Given the description of an element on the screen output the (x, y) to click on. 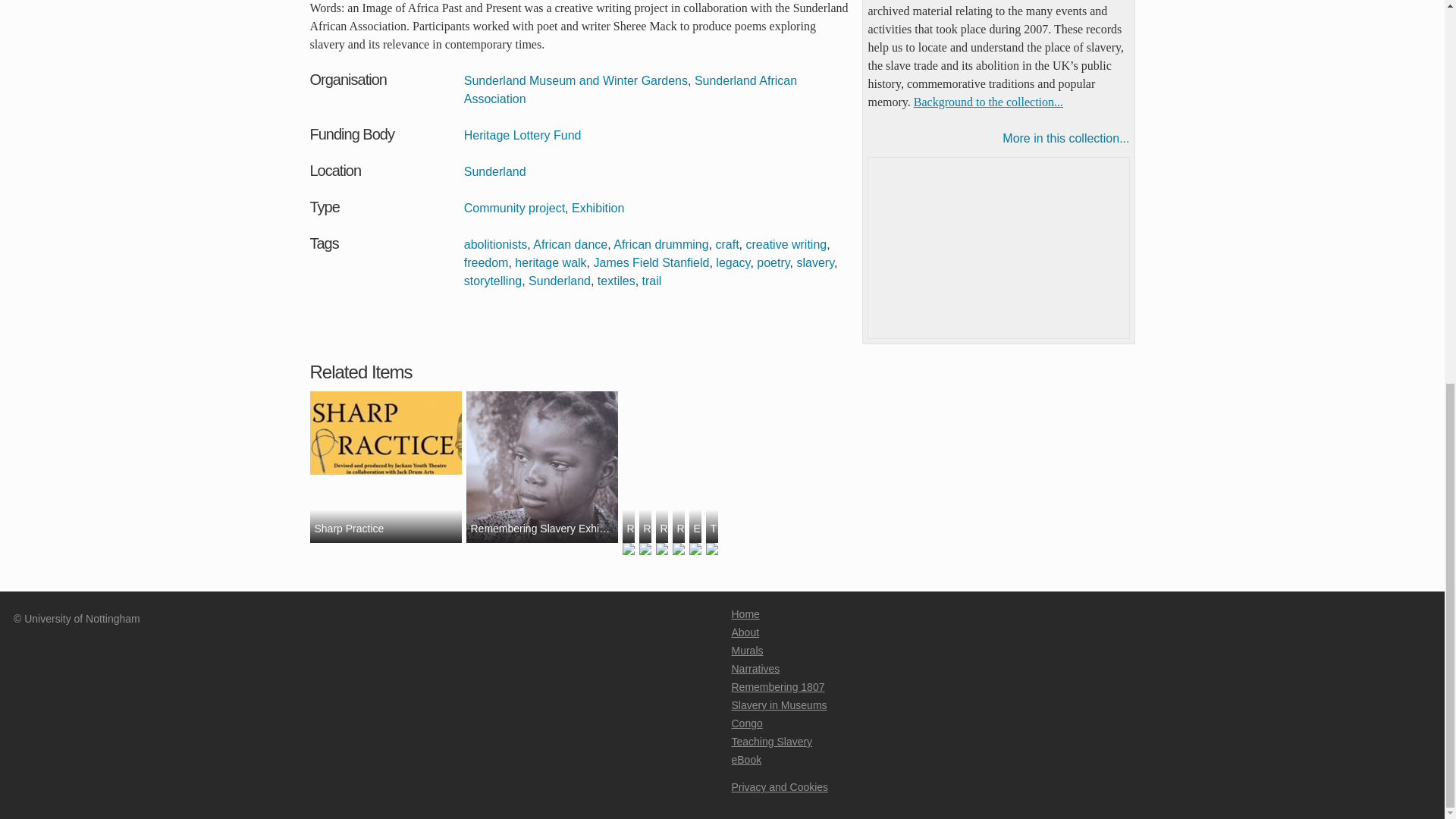
Sunderland (559, 280)
African dance (569, 244)
legacy (732, 262)
abolitionists (495, 244)
slavery (815, 262)
Community project (514, 207)
textiles (615, 280)
Exhibition (598, 207)
Sunderland Museum and Winter Gardens (575, 80)
More in this collection... (998, 138)
craft (726, 244)
freedom (486, 262)
Background to the collection... (988, 101)
heritage walk (550, 262)
storytelling (492, 280)
